Given the description of an element on the screen output the (x, y) to click on. 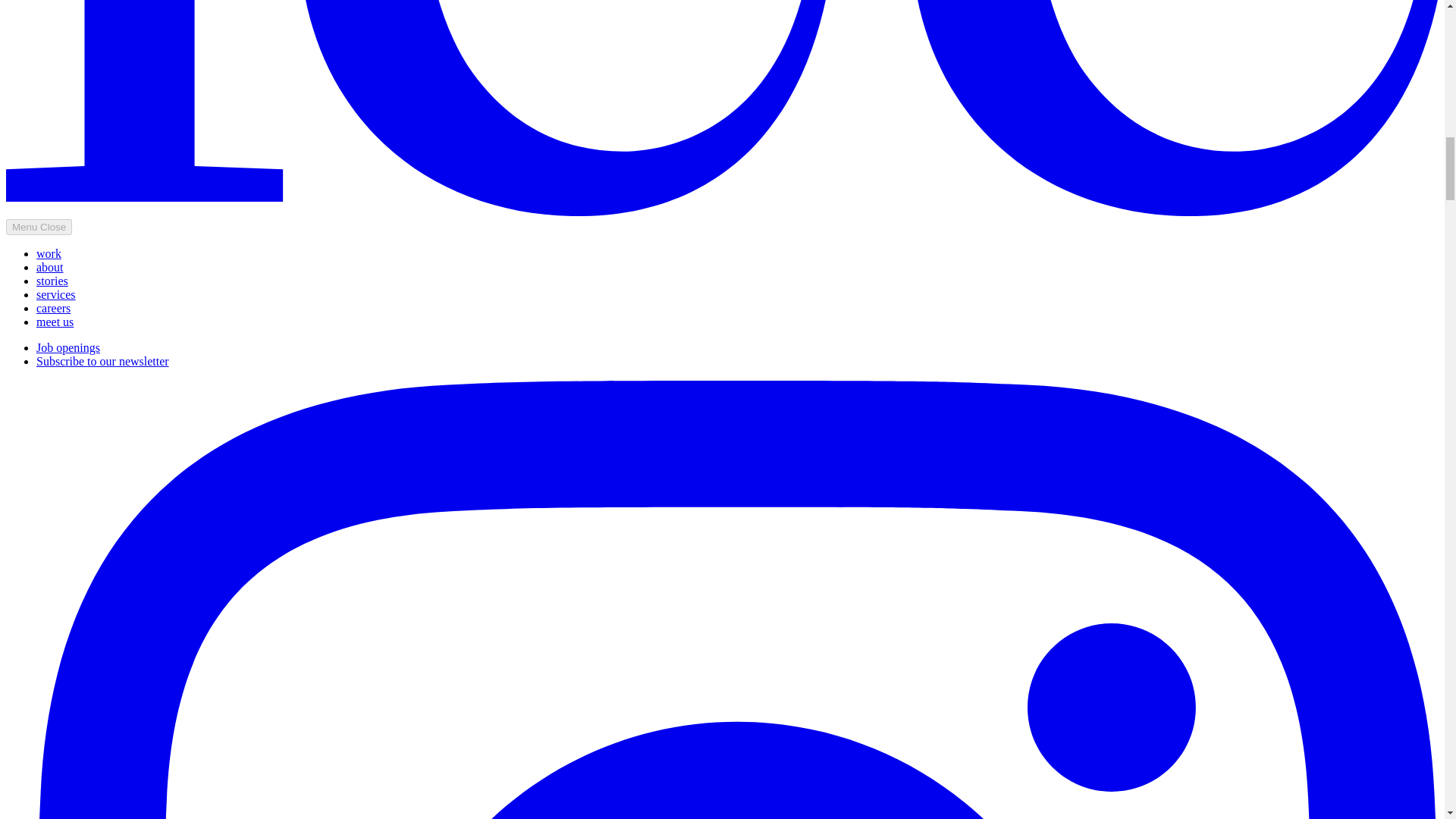
services (55, 294)
careers (52, 308)
about (50, 267)
Job openings (68, 347)
stories (52, 280)
Menu Close (38, 227)
meet us (55, 321)
Subscribe to our newsletter (102, 360)
work (48, 253)
